Given the description of an element on the screen output the (x, y) to click on. 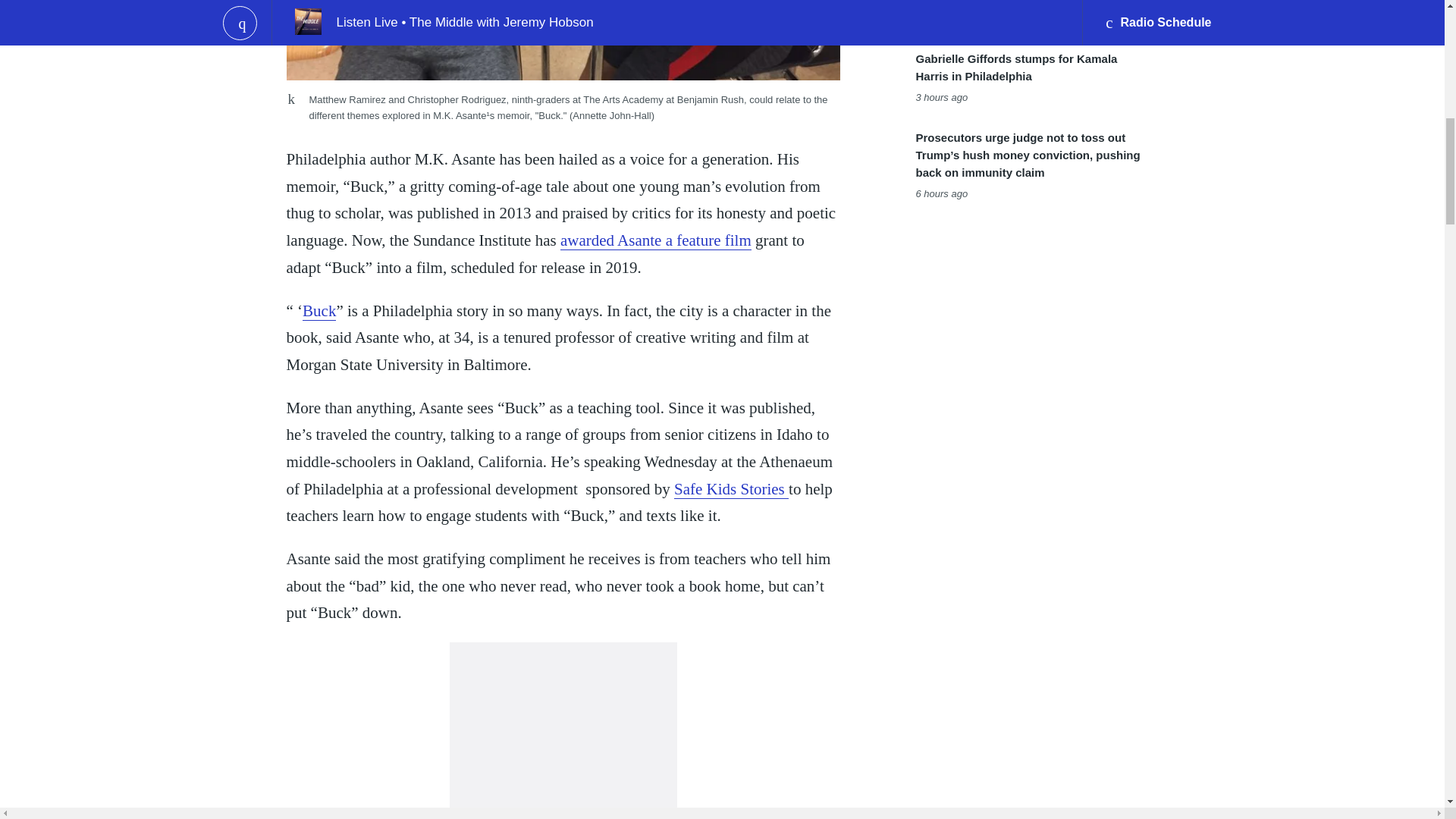
HYYAJHbuckx1200 (563, 40)
3rd party ad content (562, 730)
